Given the description of an element on the screen output the (x, y) to click on. 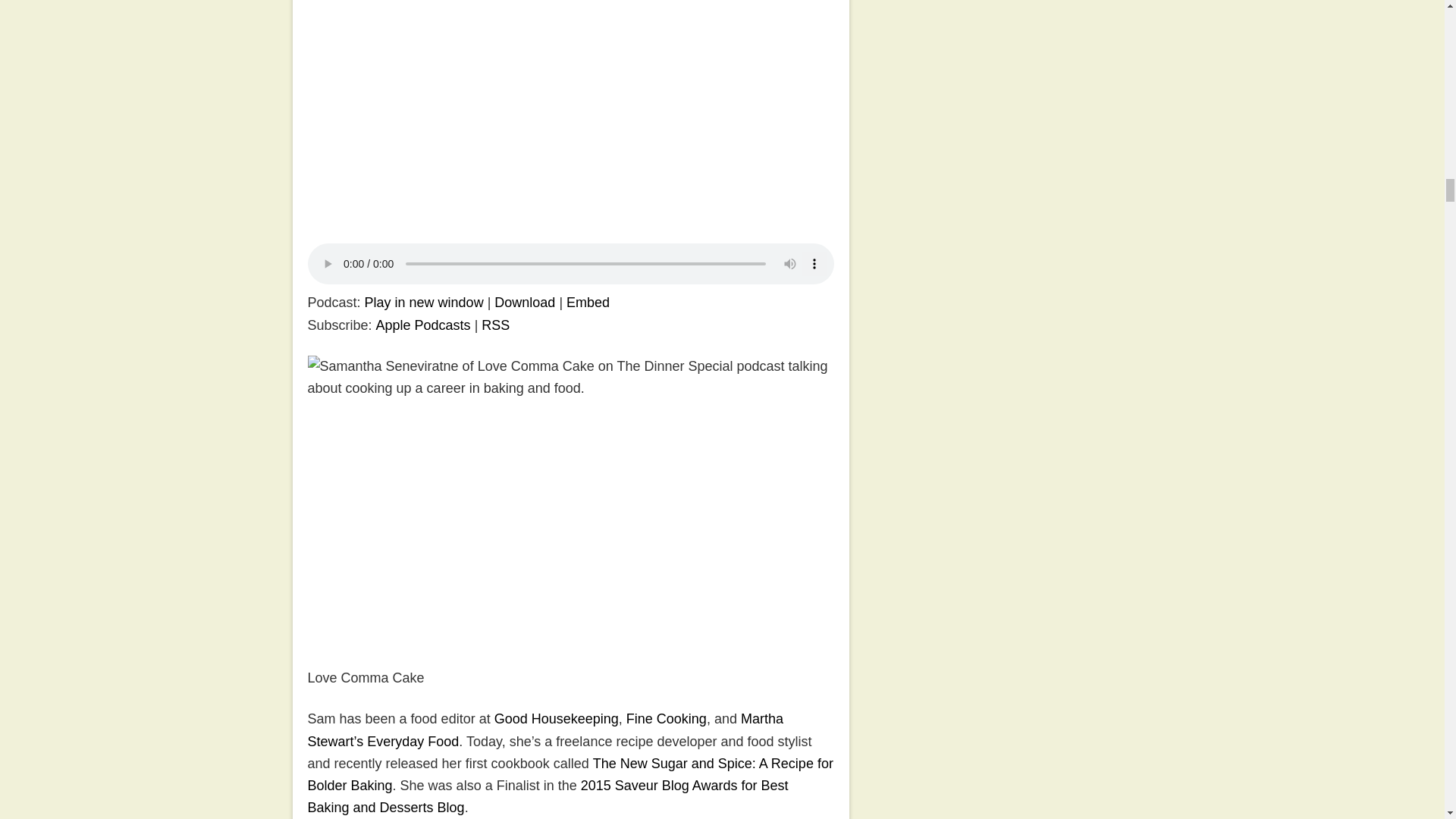
Download (524, 302)
Subscribe via RSS (495, 324)
Play in new window (424, 302)
Embed (588, 302)
Subscribe on Apple Podcasts (422, 324)
